Given the description of an element on the screen output the (x, y) to click on. 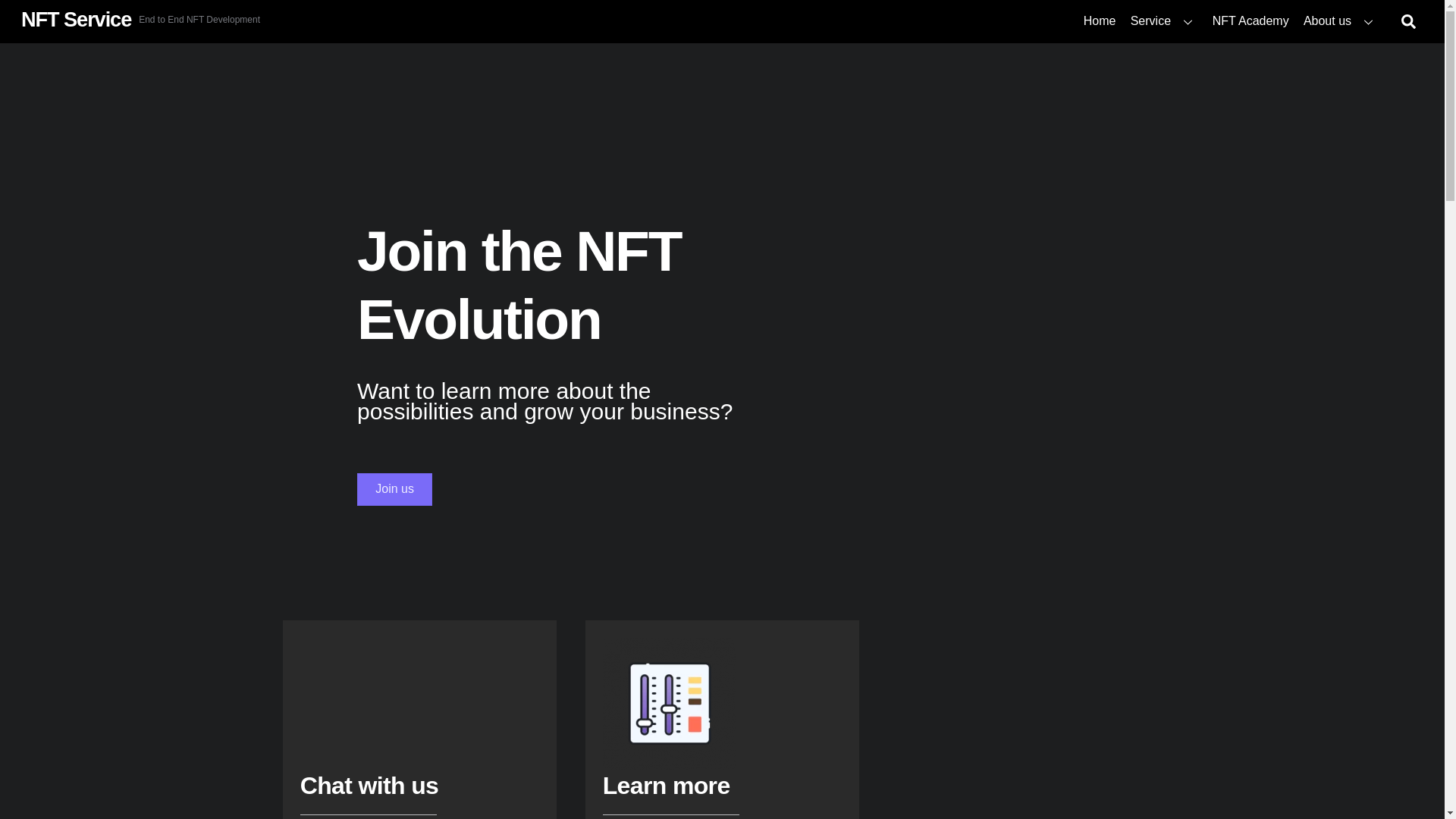
Home (1098, 21)
Service (1163, 21)
Search (1408, 21)
NFT Service (76, 19)
NFT Service - Controle (668, 704)
NFT Academy (1250, 21)
Join us (722, 21)
About us (394, 489)
NFT Service (1340, 21)
